Given the description of an element on the screen output the (x, y) to click on. 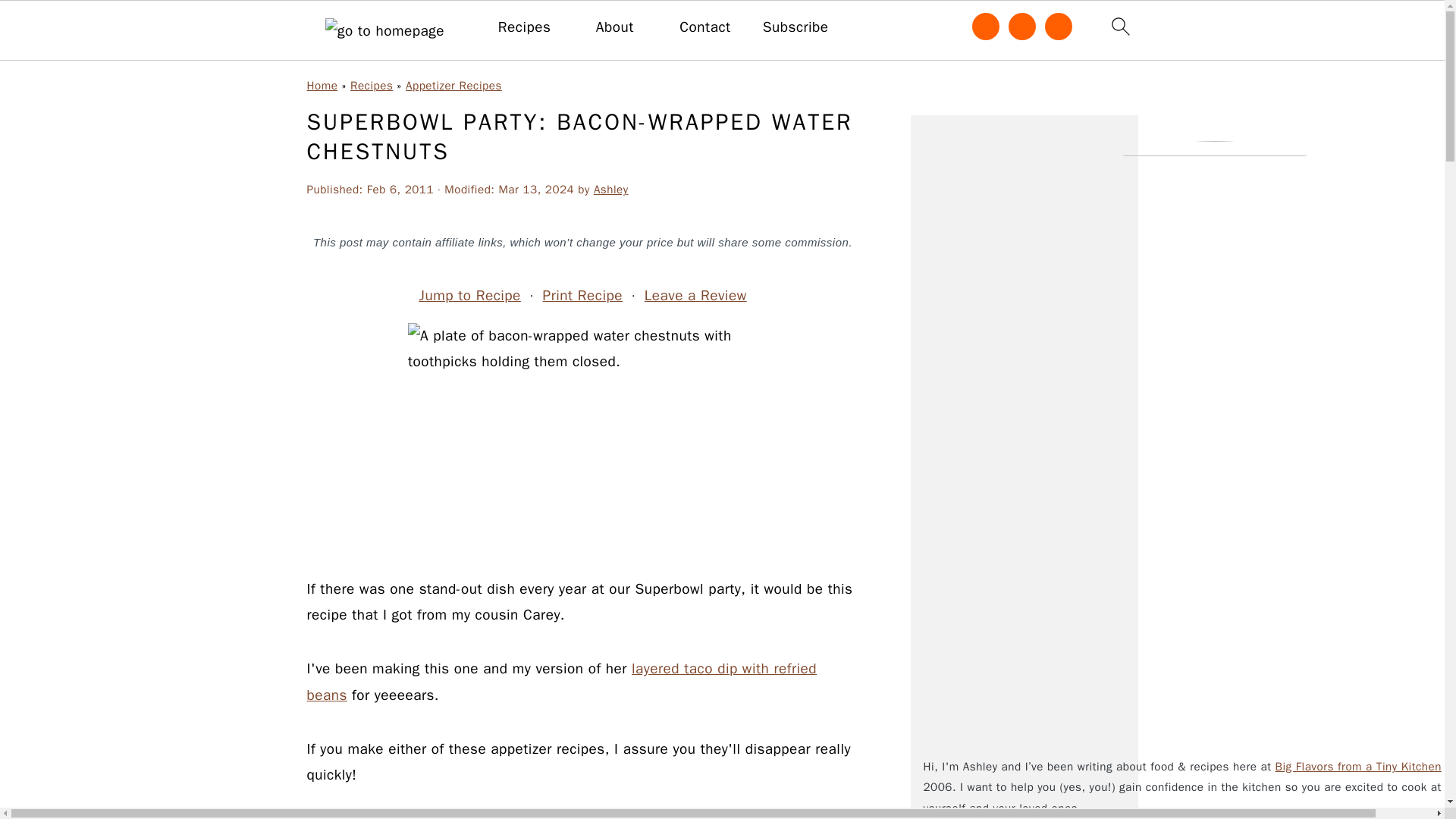
About (614, 27)
Jump to Recipe (470, 295)
search icon (1119, 26)
Home (321, 85)
Ashley (611, 189)
layered taco dip with refried beans (560, 681)
Leave a Review (695, 295)
Jump to Recipe (470, 295)
Leave a Review (695, 295)
Contact (704, 27)
